Given the description of an element on the screen output the (x, y) to click on. 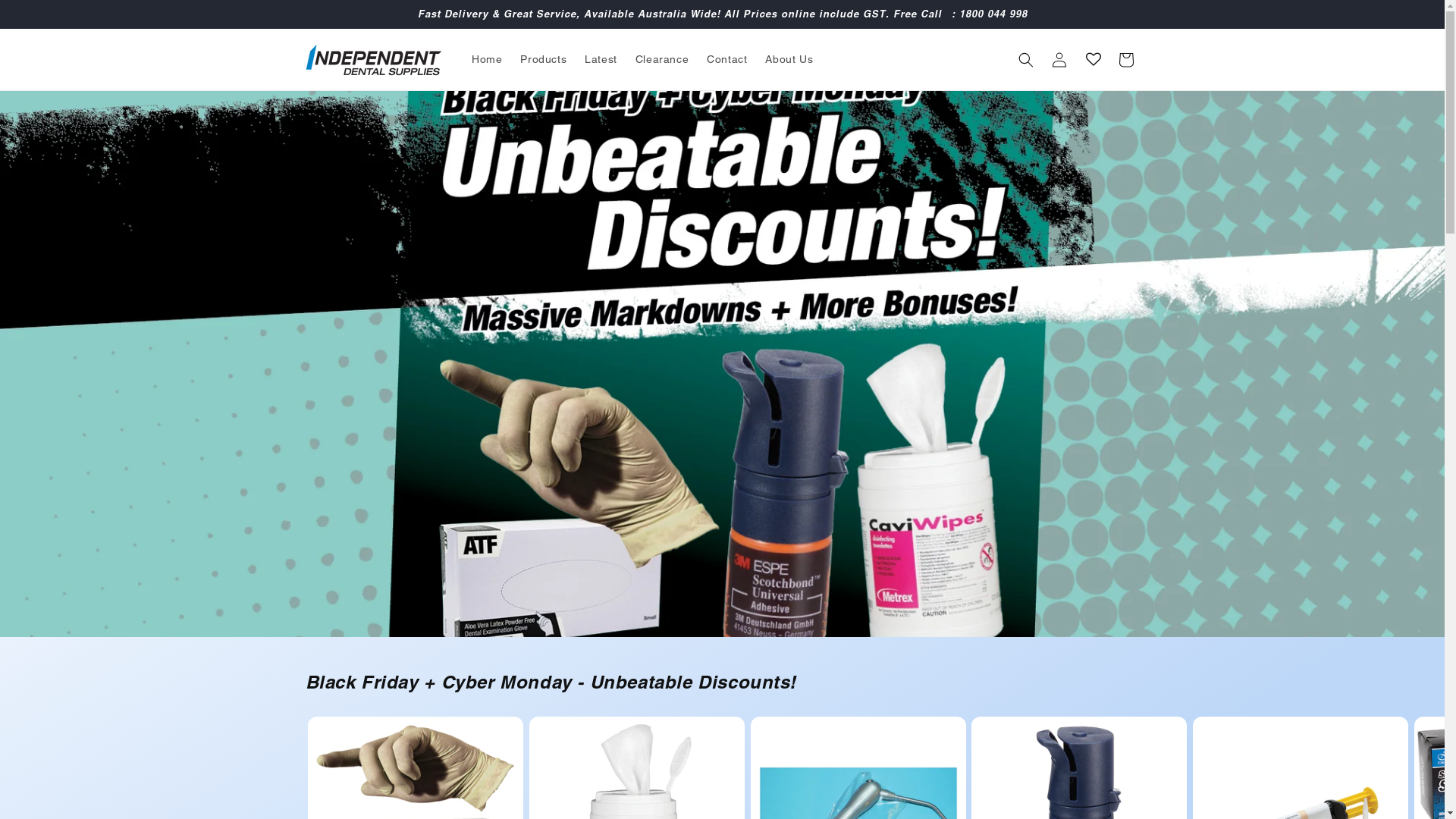
Latest Element type: text (600, 59)
Products Element type: text (543, 59)
Contact Element type: text (726, 59)
Cart Element type: text (1125, 58)
Log in Element type: text (1058, 58)
Clearance Element type: text (661, 59)
Home Element type: text (486, 59)
About Us Element type: text (789, 59)
